Given the description of an element on the screen output the (x, y) to click on. 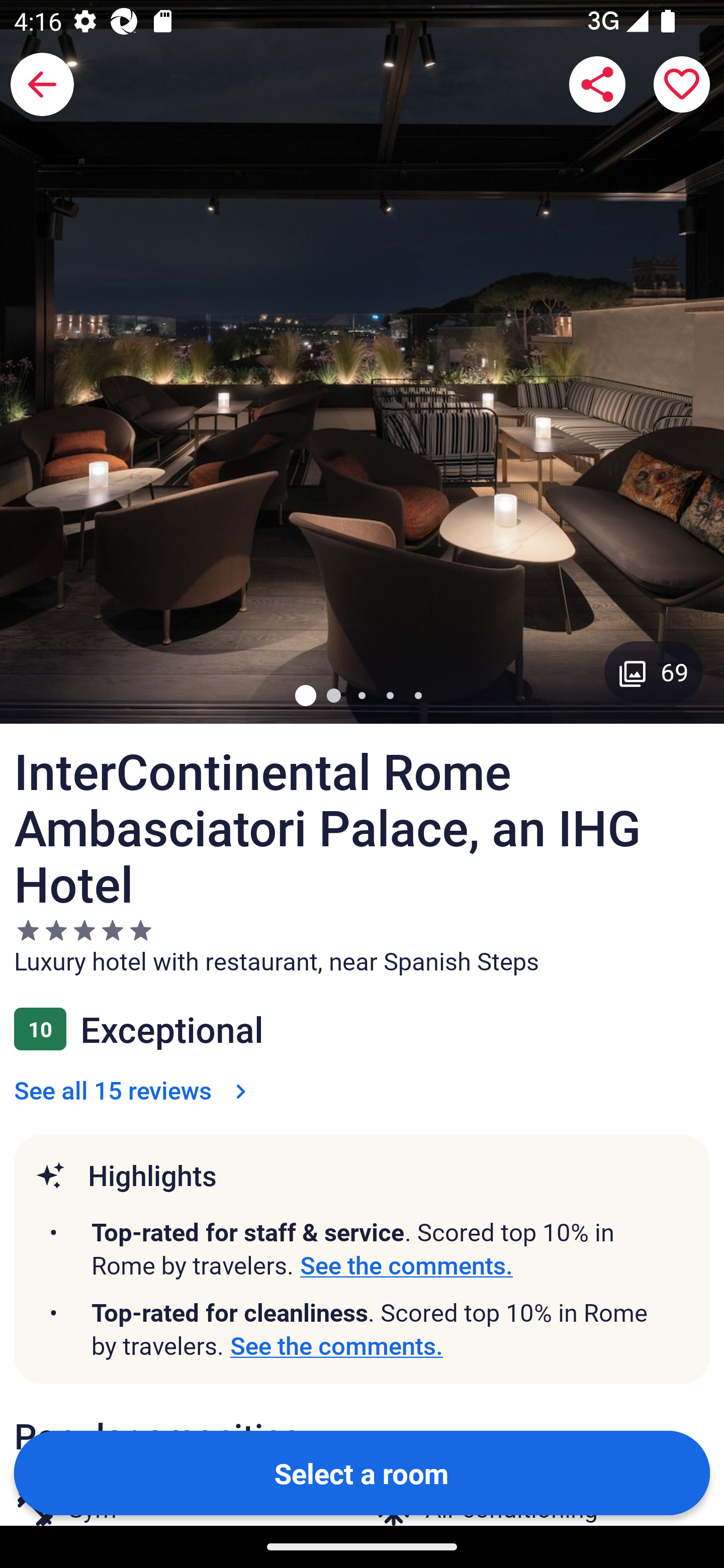
Back (42, 84)
Save property to a trip (681, 84)
Gallery button with 69 images (653, 671)
See all 15 reviews See all 15 reviews Link (133, 1089)
Select a room Button Select a room (361, 1472)
